Given the description of an element on the screen output the (x, y) to click on. 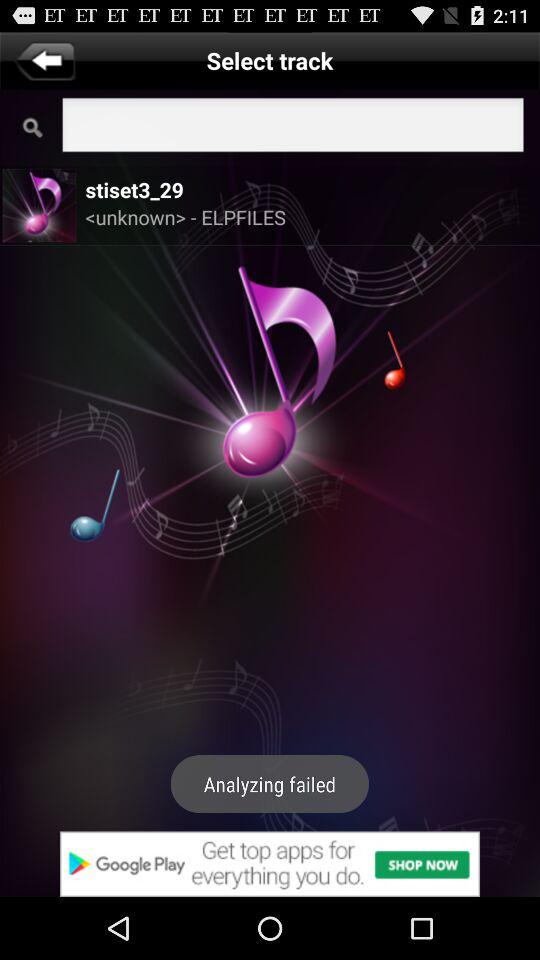
go to previous (44, 59)
